Given the description of an element on the screen output the (x, y) to click on. 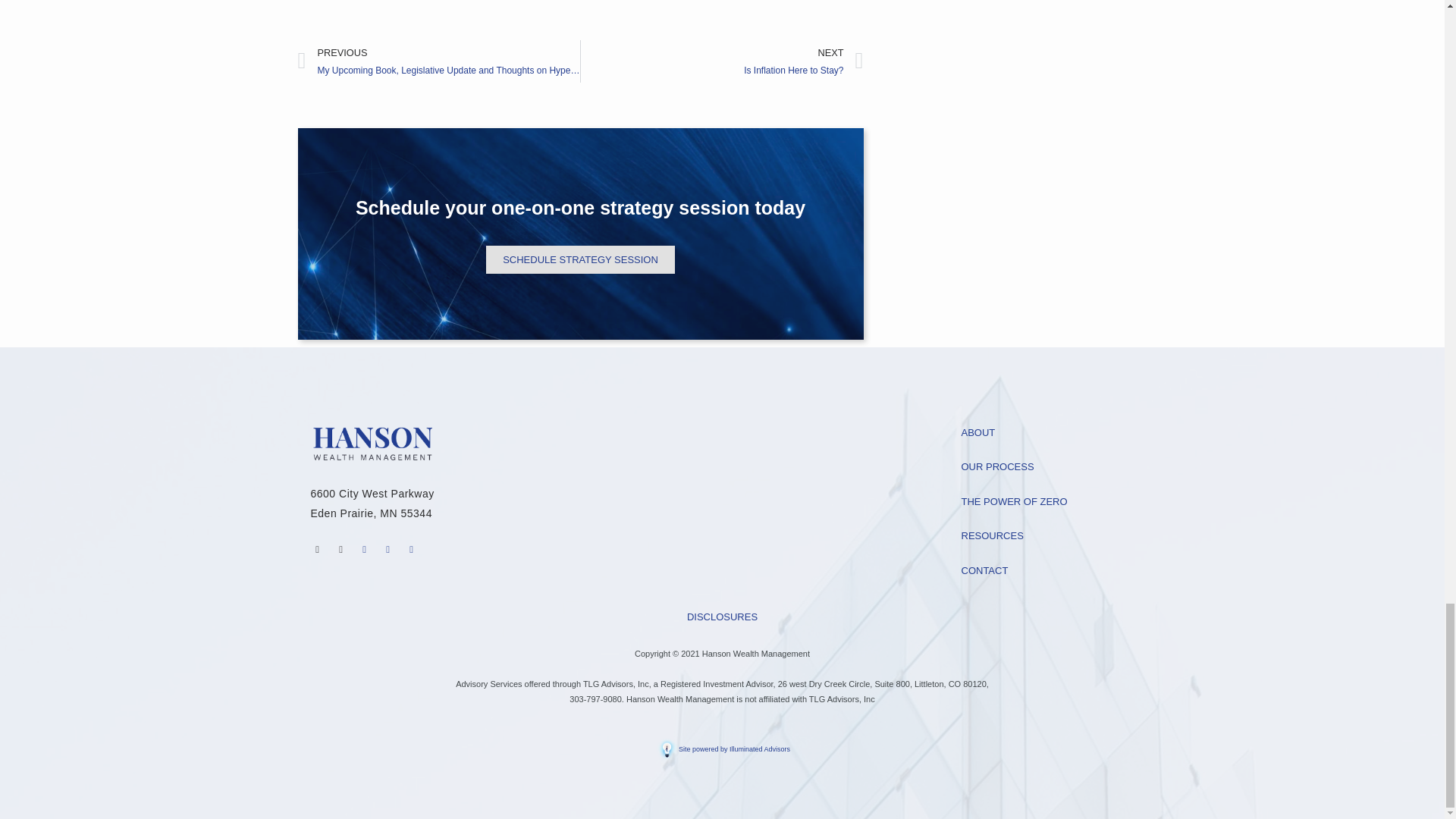
Phone-alt (317, 548)
SCHEDULE STRATEGY SESSION (580, 259)
